Given the description of an element on the screen output the (x, y) to click on. 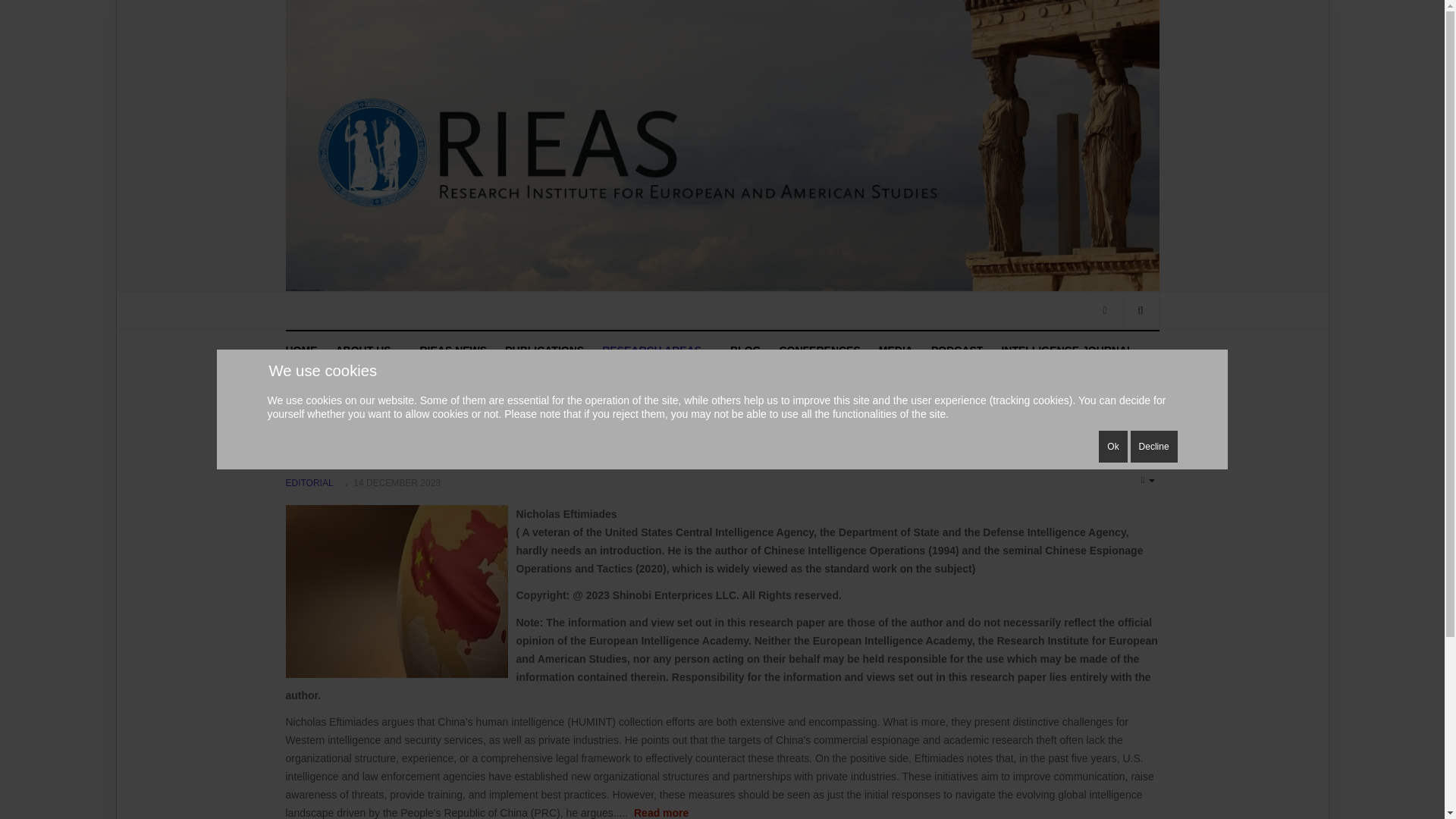
RIEAS Research Institute for European and American Studies (305, 350)
